Given the description of an element on the screen output the (x, y) to click on. 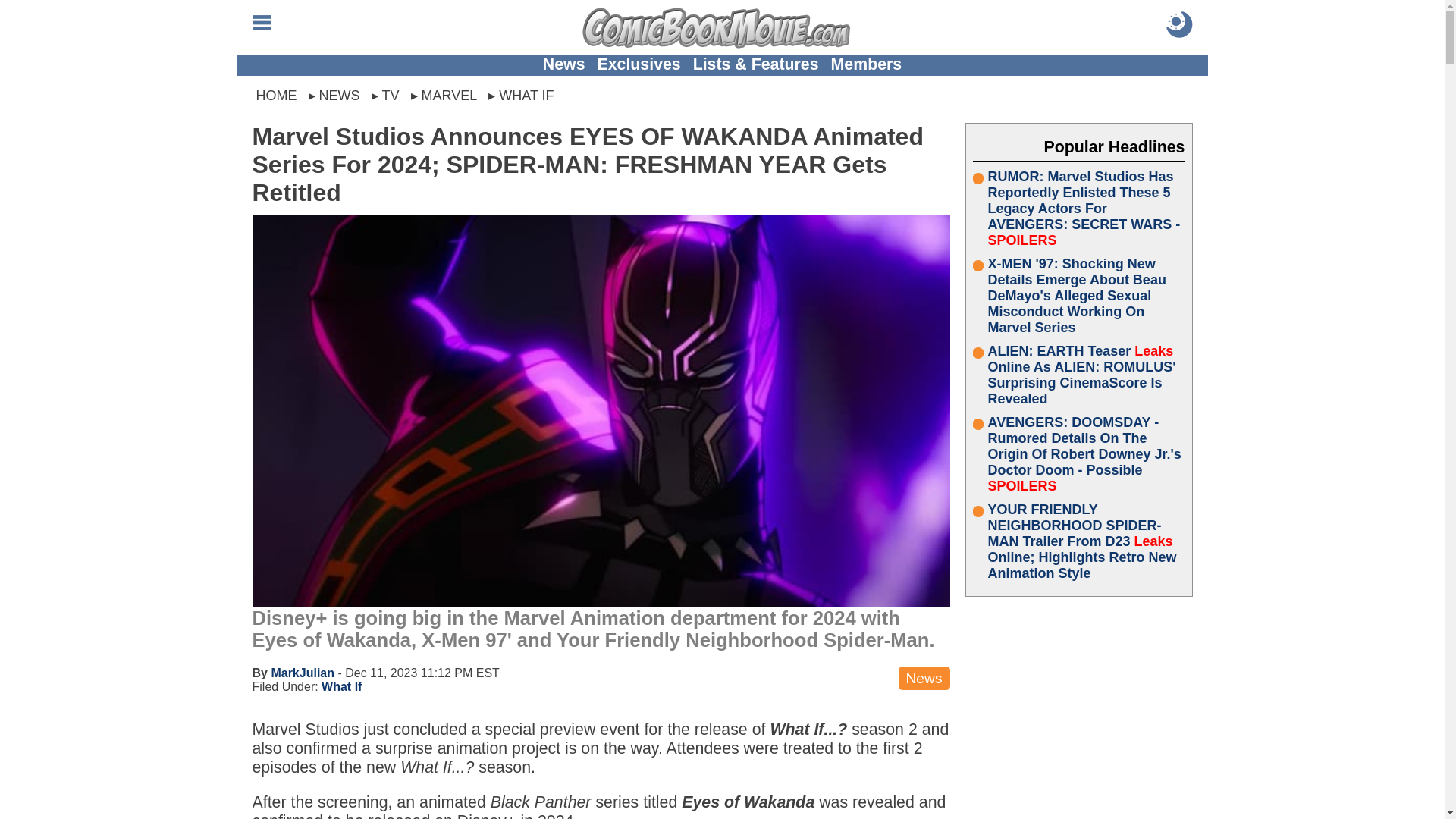
News (564, 64)
Members (866, 64)
Exclusives (637, 64)
